Given the description of an element on the screen output the (x, y) to click on. 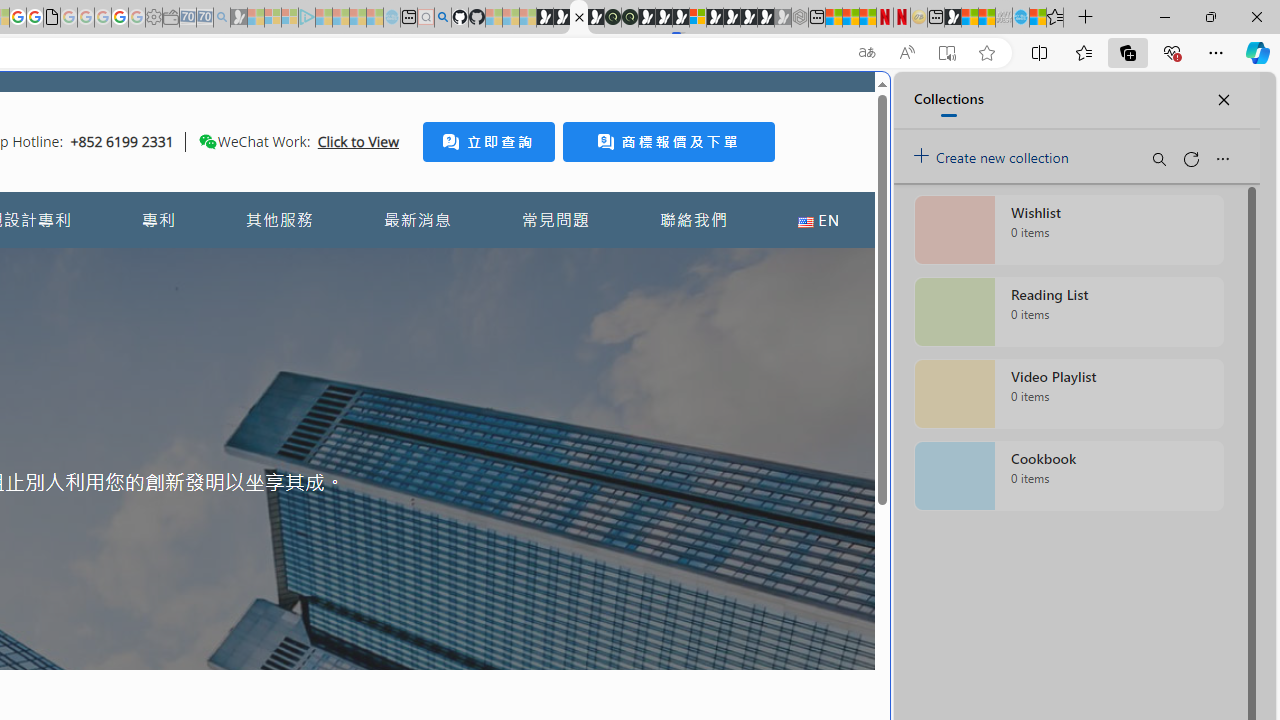
Earth has six continents not seven, radical new study claims (986, 17)
EN (818, 220)
